Given the description of an element on the screen output the (x, y) to click on. 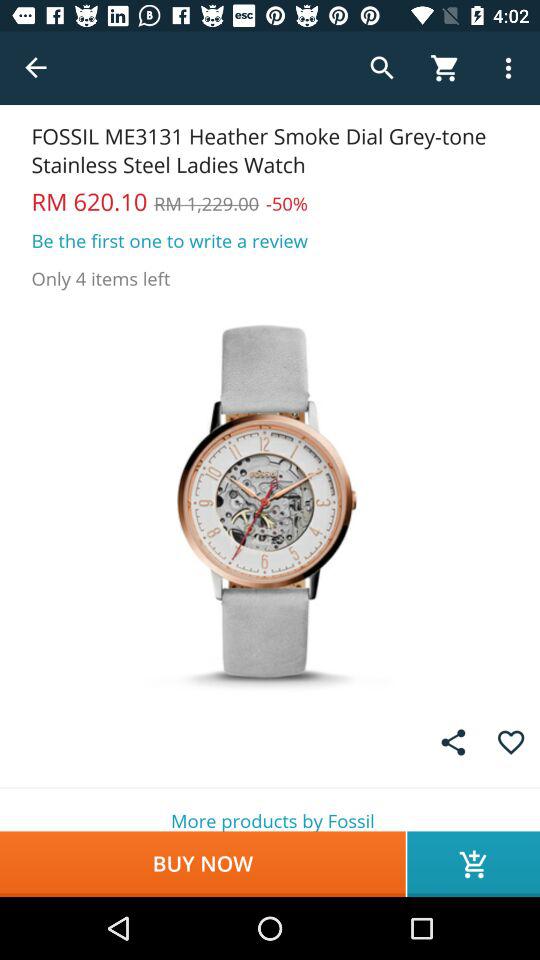
turn on the buy now icon (202, 863)
